Given the description of an element on the screen output the (x, y) to click on. 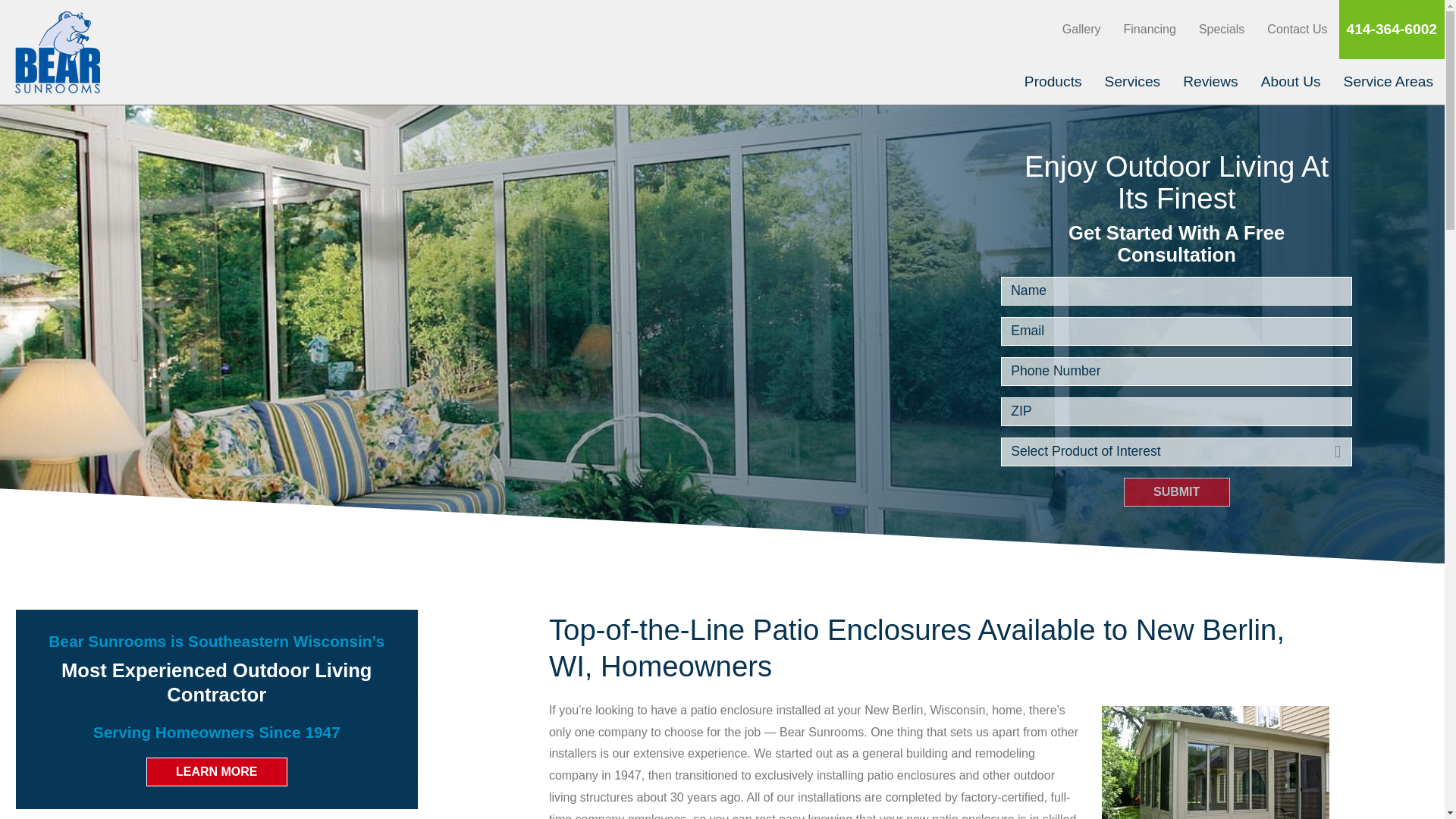
Reviews (1210, 81)
Bear Sunrooms (57, 52)
Gallery (1081, 29)
Specials (1221, 29)
Patio Enclosures New Berlin WI (1215, 762)
About Us (1290, 81)
Contact Us (1296, 29)
SUBMIT (1177, 491)
Services (1132, 81)
Financing (1149, 29)
Products (1053, 81)
LEARN MORE (216, 771)
